Given the description of an element on the screen output the (x, y) to click on. 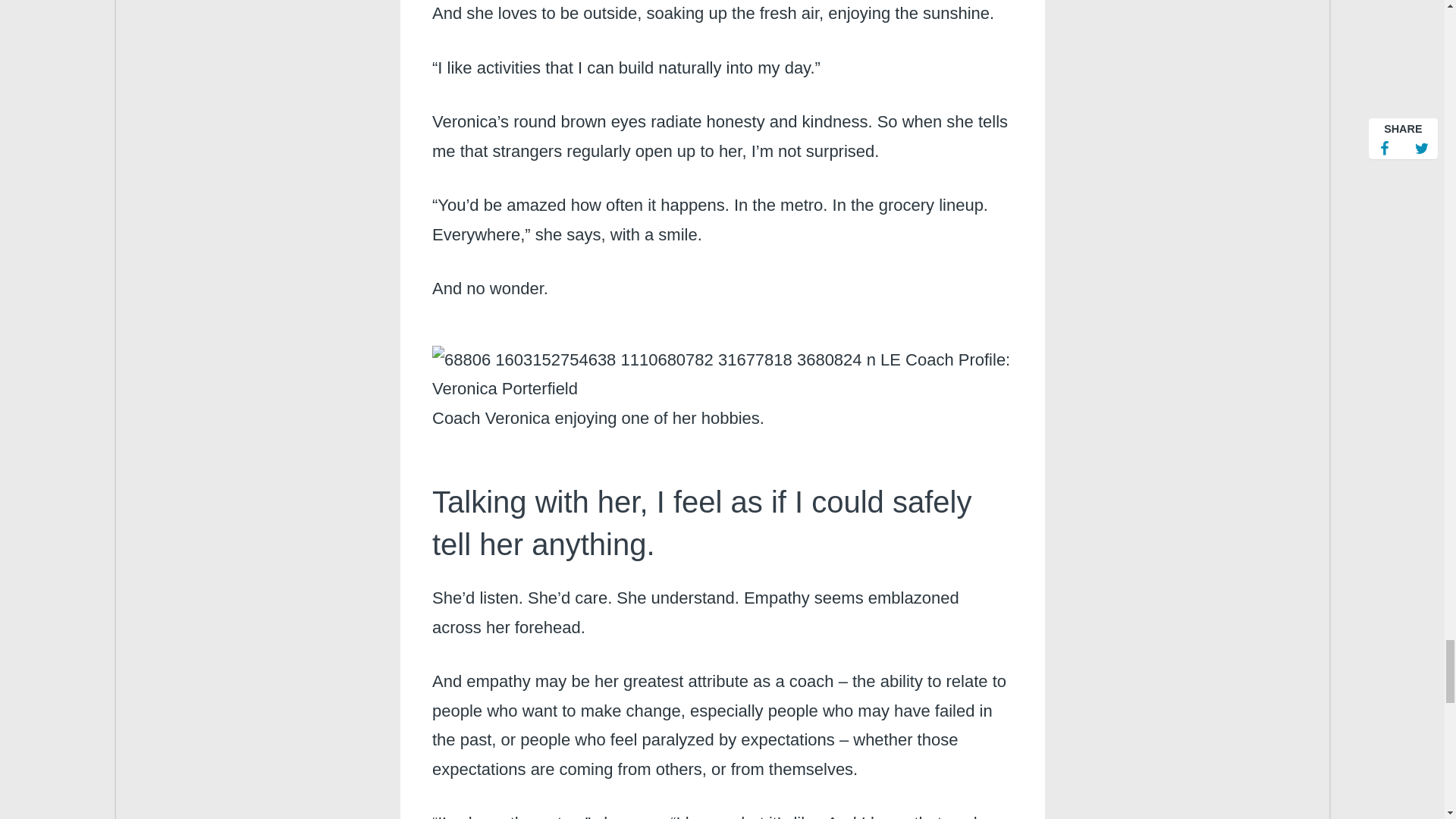
Nutrition Certification (721, 374)
